Given the description of an element on the screen output the (x, y) to click on. 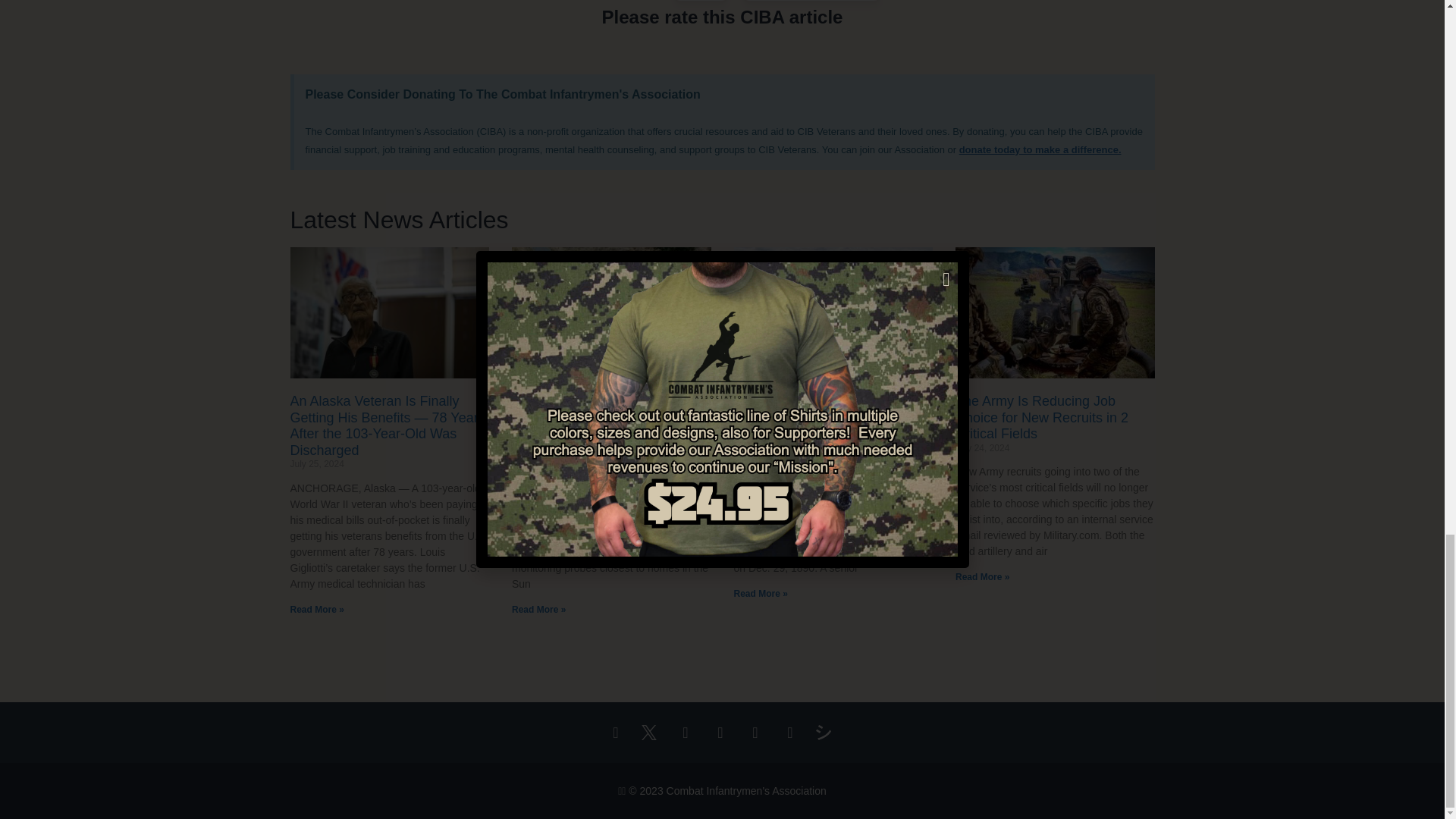
Developer Jarvis Media Group (826, 732)
Combat Infantrymen's Association On Facebook (617, 732)
Combat Infantrymen's Association On Youtube (791, 732)
Combat Infantrymen's Association On Twitter (652, 732)
Combat Infantrymen's Association On Linkedin (756, 732)
Combat Infantrymen's Association On Instagram (687, 732)
Combat Infantrymen's Association On Google (722, 732)
